Given the description of an element on the screen output the (x, y) to click on. 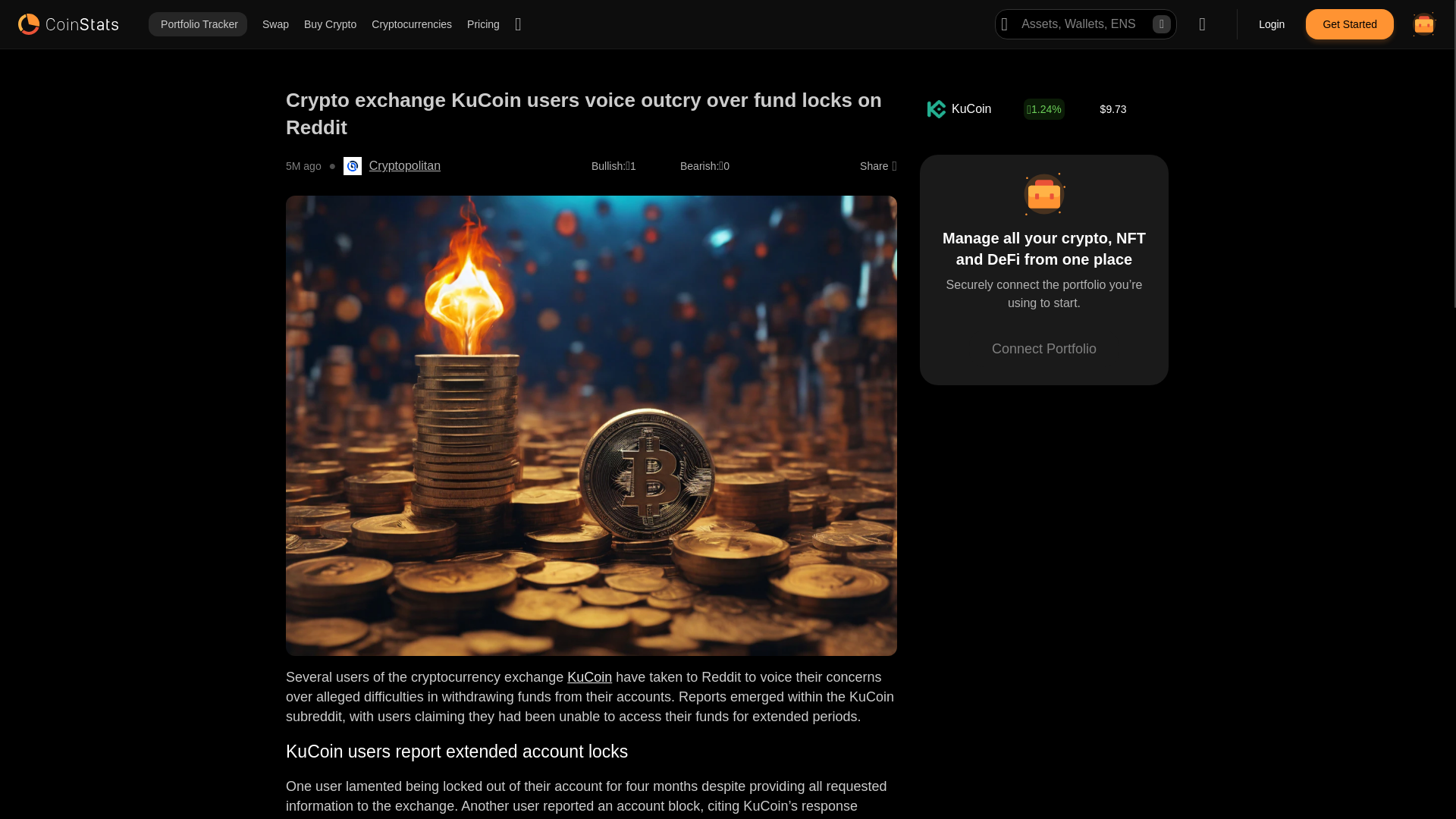
Cryptocurrencies (411, 23)
Login (1271, 24)
KuCoin (589, 676)
Pricing (483, 23)
Pricing (483, 23)
Swap (275, 23)
Cryptopolitan (405, 166)
Get Started (1349, 24)
Cryptocurrencies (411, 23)
Portfolio Tracker (197, 24)
bullish (608, 165)
Swap (275, 23)
bearish (699, 165)
Portfolio Tracker (197, 24)
